Given the description of an element on the screen output the (x, y) to click on. 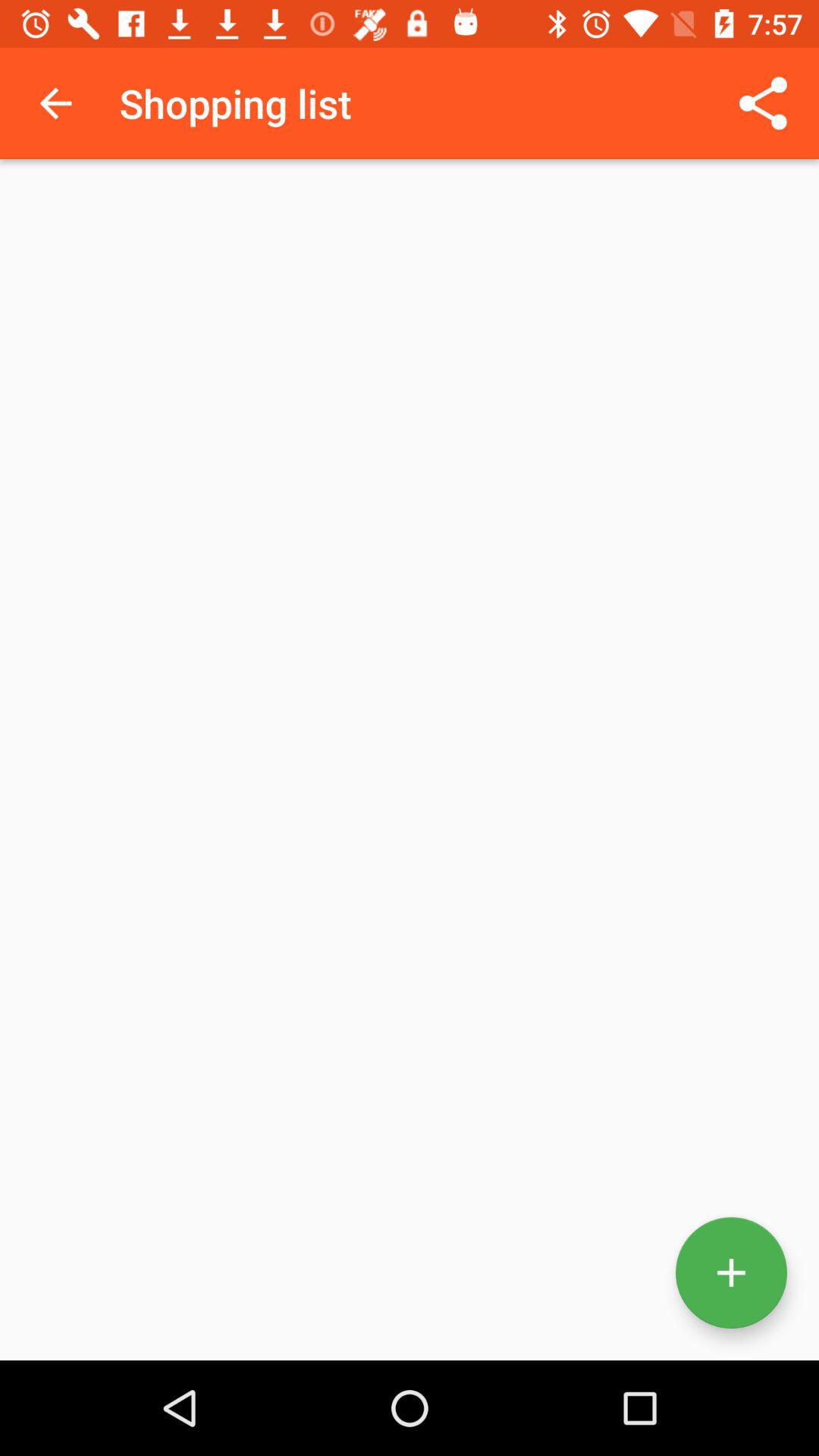
add new (731, 1272)
